Given the description of an element on the screen output the (x, y) to click on. 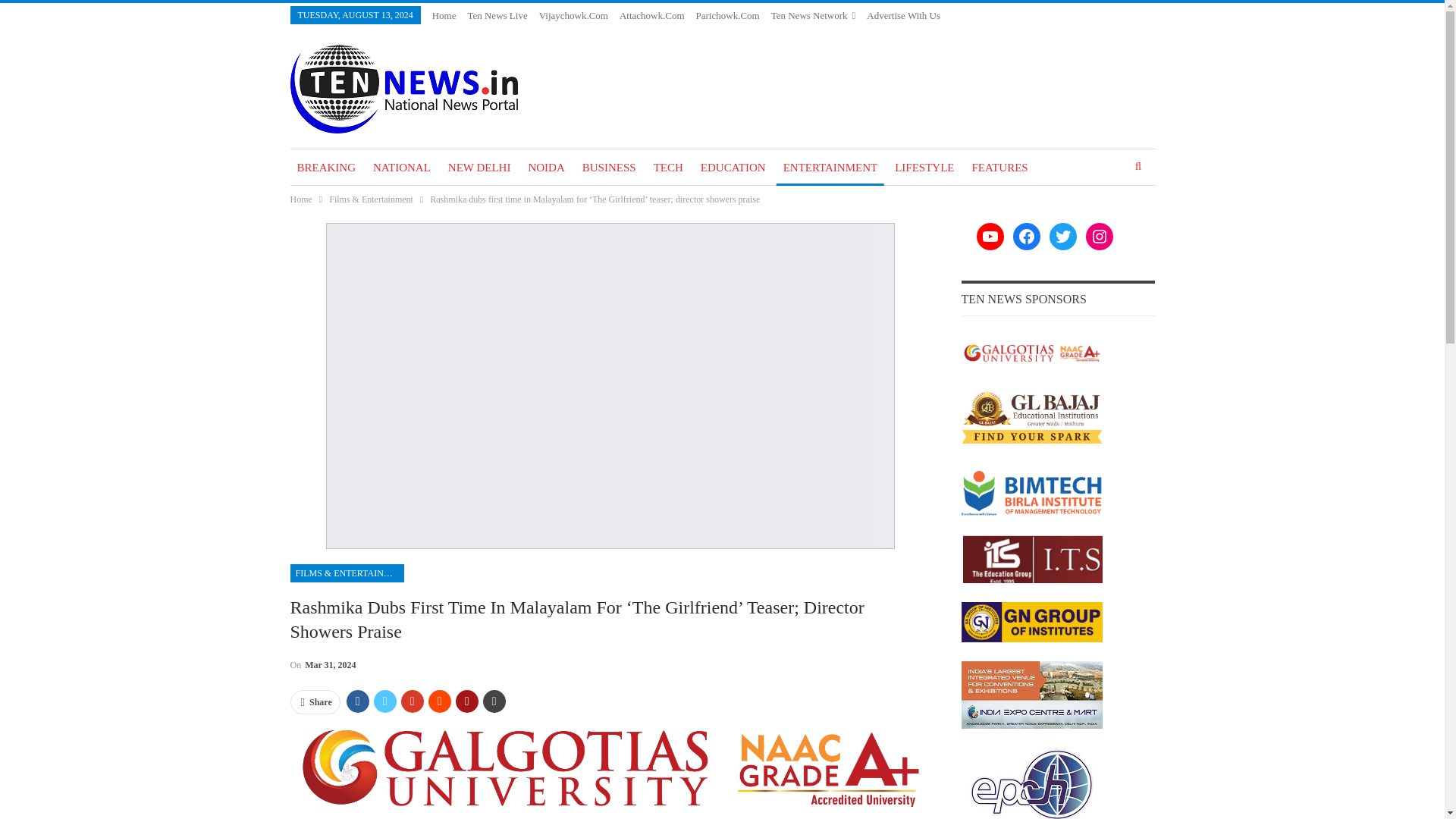
Parichowk.Com (727, 15)
NOIDA (545, 167)
Advertise With Us (903, 15)
NATIONAL (402, 167)
BUSINESS (609, 167)
Ten News Live (497, 15)
Vijaychowk.Com (573, 15)
Home (444, 15)
TECH (668, 167)
NEW DELHI (479, 167)
